Given the description of an element on the screen output the (x, y) to click on. 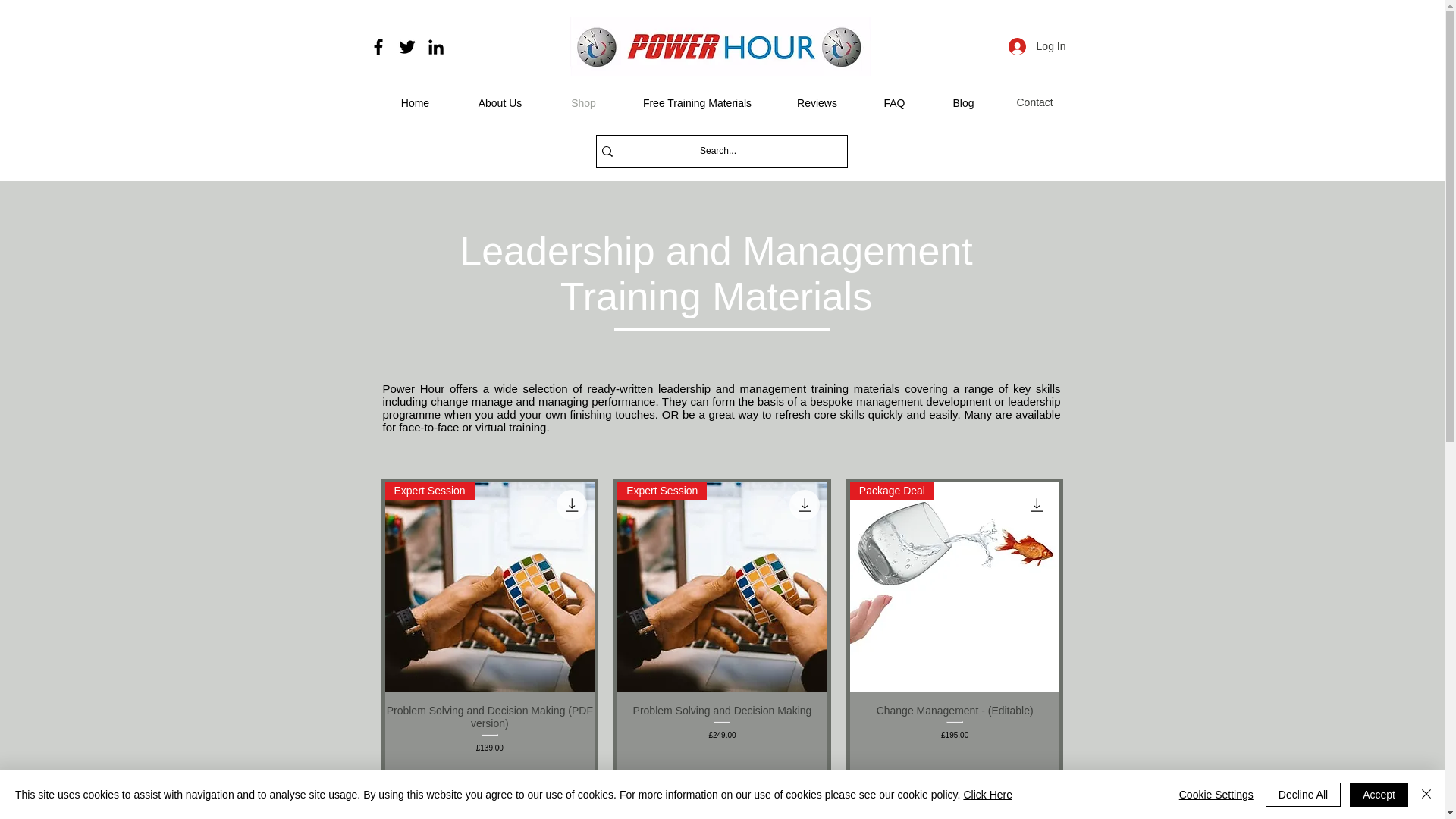
Free Training Materials (696, 102)
FAQ (894, 102)
Shop (583, 102)
Contact (1034, 102)
About Us (499, 102)
Expert Session (722, 587)
Expert Session (490, 587)
Package Deal (954, 587)
Blog (962, 102)
Log In (1037, 46)
